Given the description of an element on the screen output the (x, y) to click on. 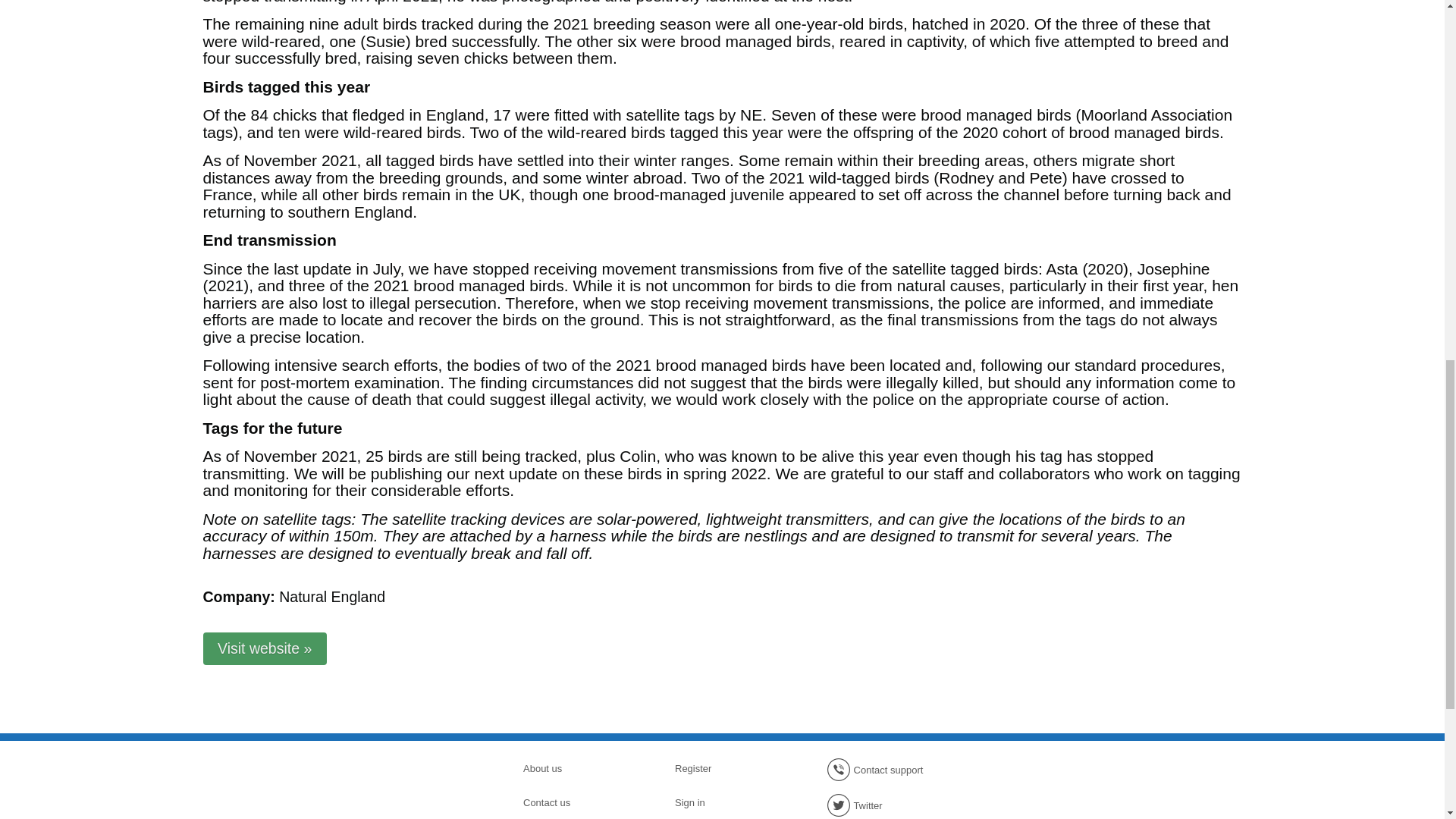
Register (727, 768)
Sign in (727, 802)
Twitter (880, 805)
Contact us (575, 802)
About us (575, 768)
Contact support (880, 769)
